Given the description of an element on the screen output the (x, y) to click on. 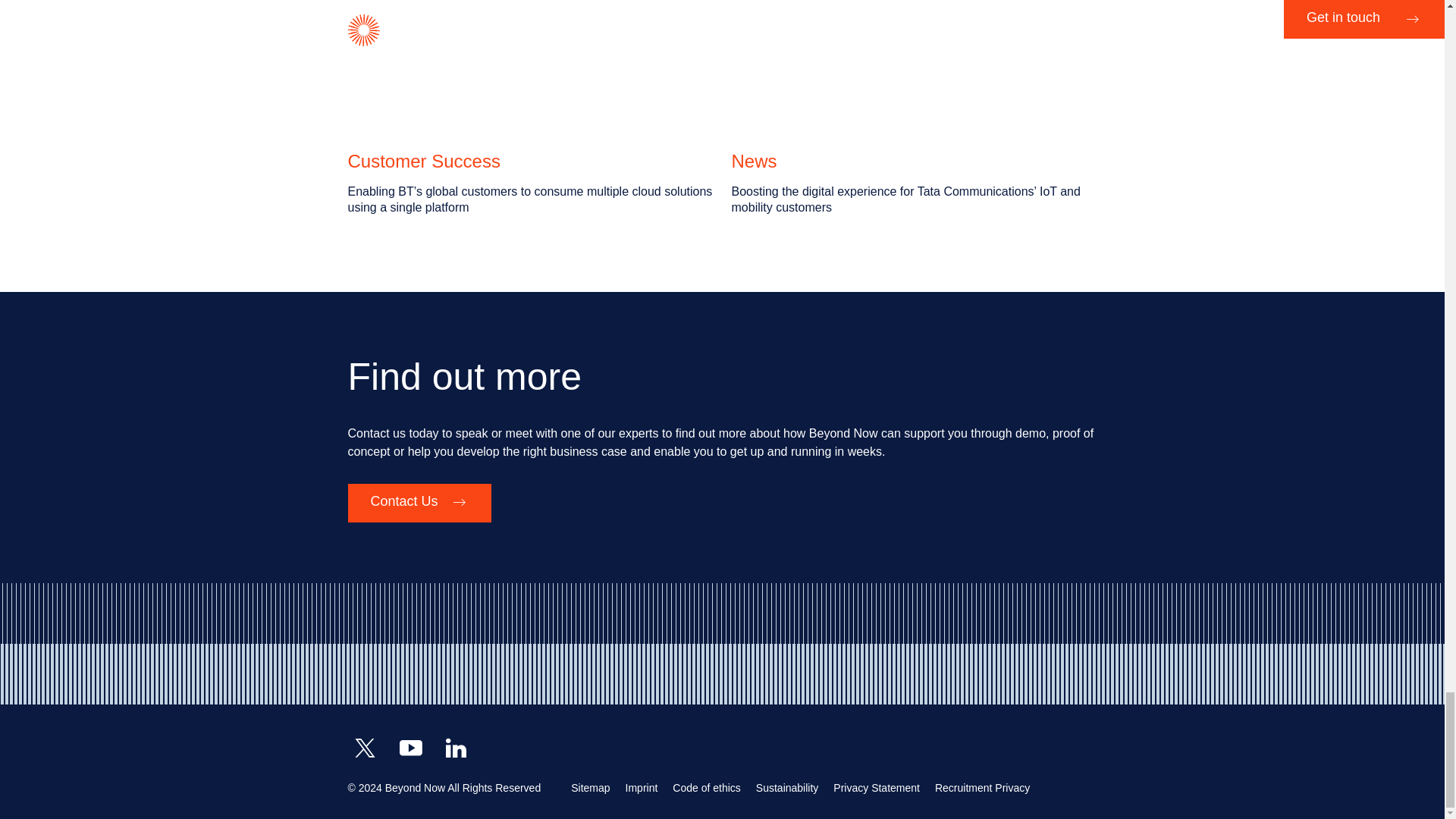
YouTube (409, 747)
Twitter (364, 747)
